Given the description of an element on the screen output the (x, y) to click on. 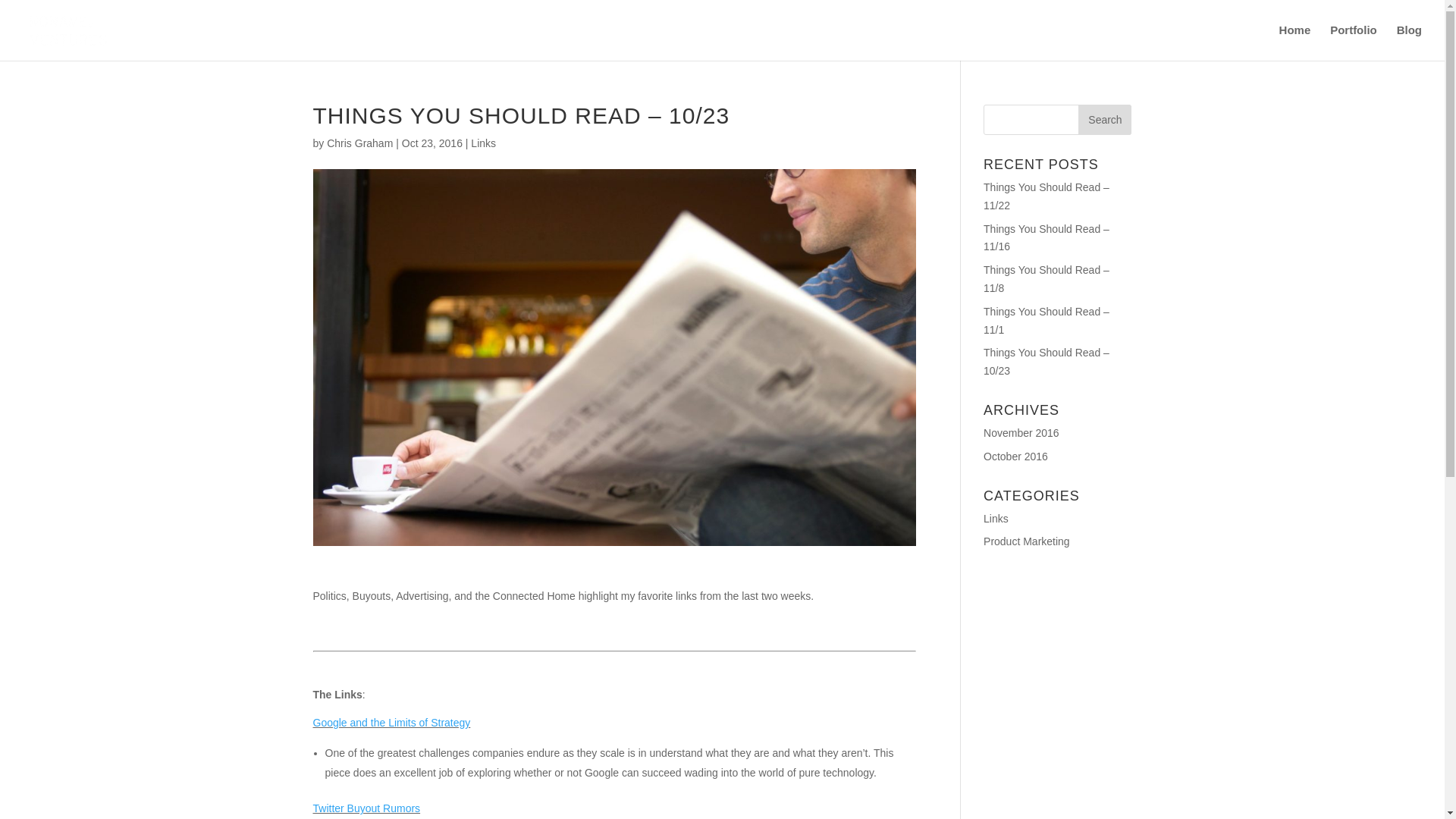
Home (1295, 42)
Product Marketing (1027, 541)
October 2016 (1016, 456)
Links (483, 143)
Chris Graham (359, 143)
Twitter Buyout Rumors (366, 808)
Google and the Limits of Strategy (391, 722)
Portfolio (1353, 42)
Posts by Chris Graham (359, 143)
Links (996, 518)
Search (1104, 119)
November 2016 (1021, 432)
Search (1104, 119)
